Given the description of an element on the screen output the (x, y) to click on. 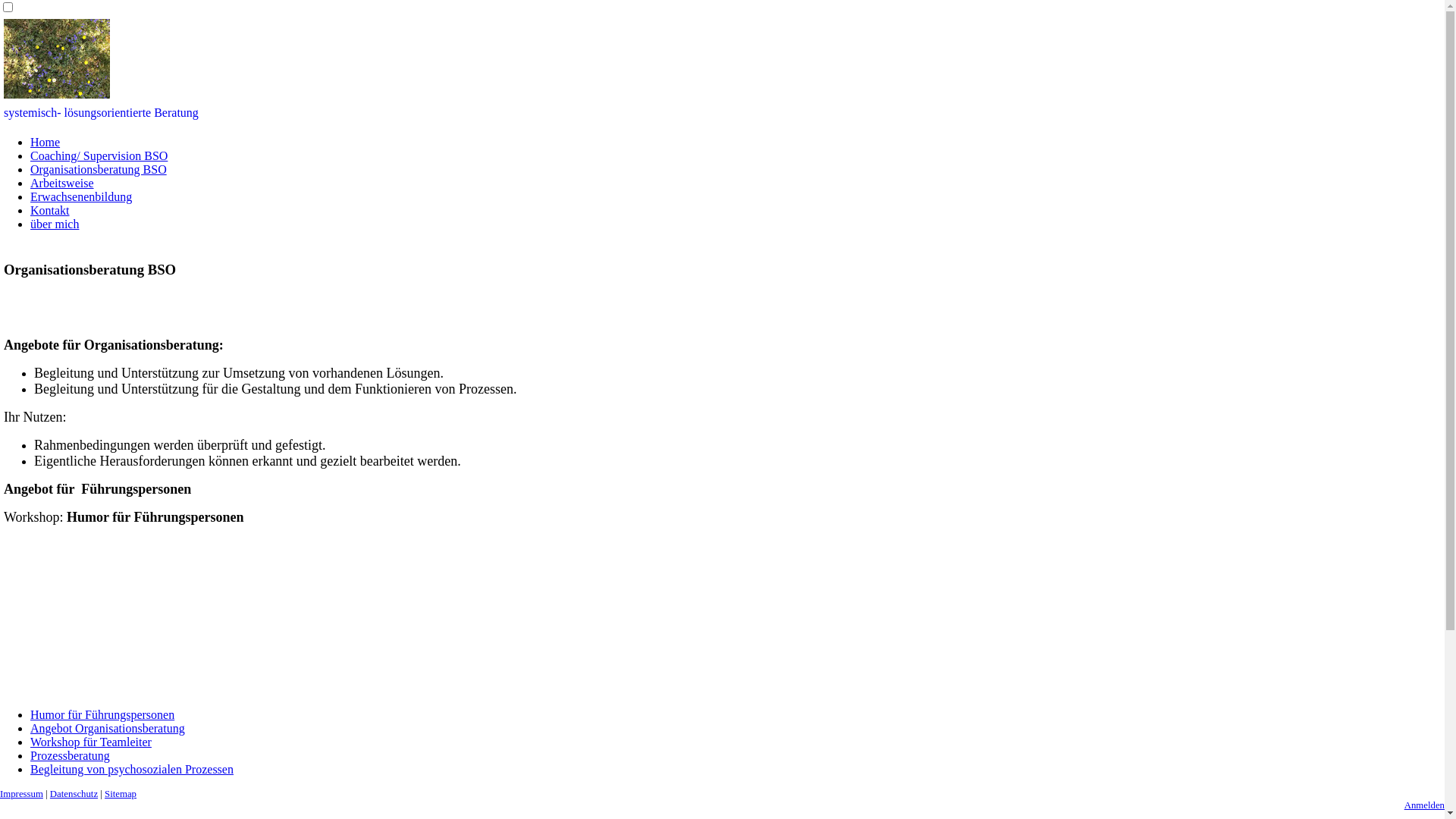
Prozessberatung Element type: text (69, 755)
Anmelden Element type: text (1424, 805)
Angebot Organisationsberatung Element type: text (107, 727)
Impressum Element type: text (21, 793)
Erwachsenenbildung Element type: text (80, 196)
Coaching/ Supervision BSO Element type: text (98, 155)
Home Element type: text (44, 141)
Datenschutz Element type: text (73, 793)
Arbeitsweise Element type: text (62, 182)
Sitemap Element type: text (120, 793)
Begleitung von psychosozialen Prozessen Element type: text (131, 768)
Organisationsberatung BSO Element type: text (98, 169)
Kontakt Element type: text (49, 209)
